Given the description of an element on the screen output the (x, y) to click on. 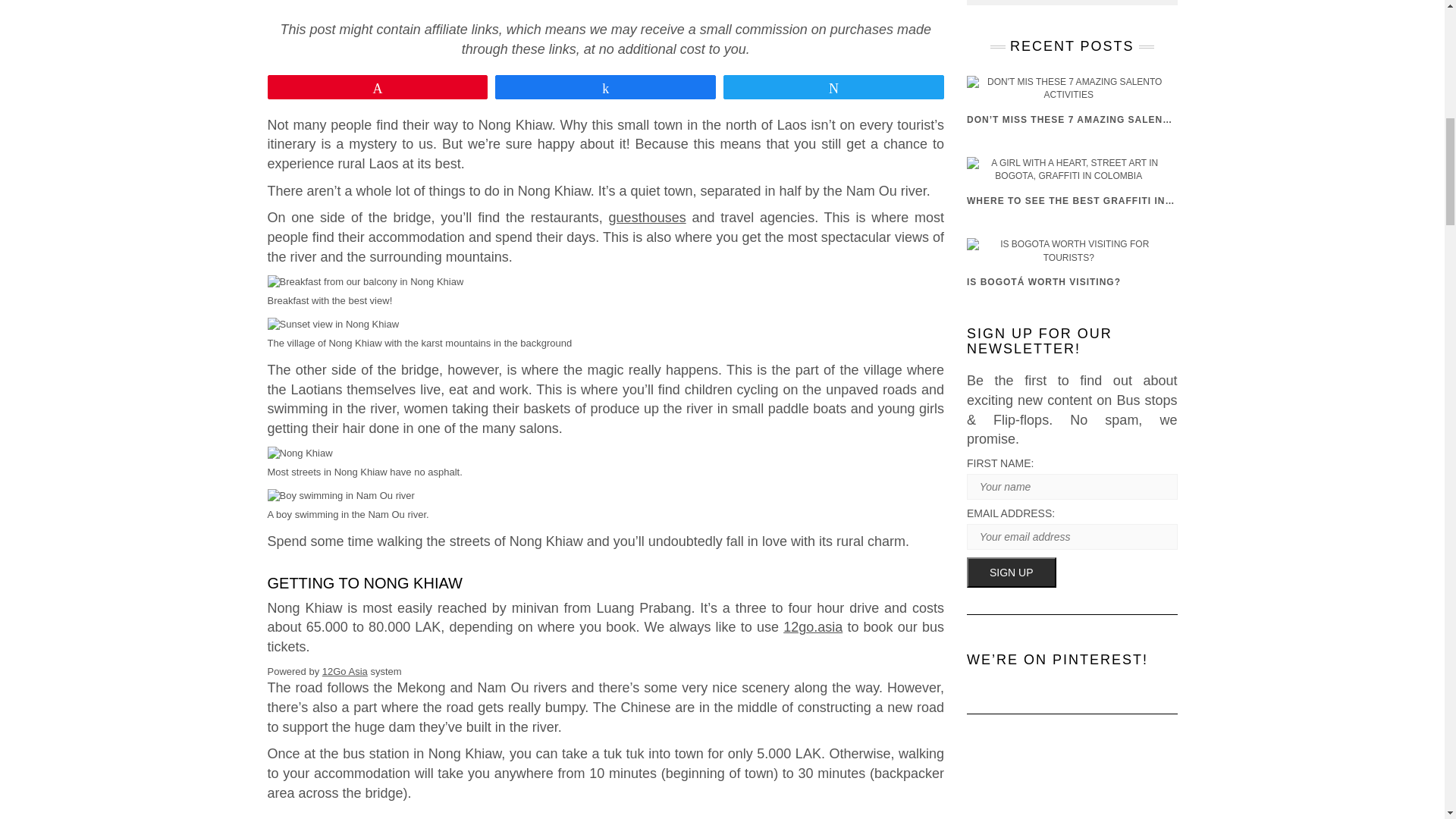
12go.asia (813, 626)
guesthouses (646, 217)
Sign up (1011, 572)
12Go Asia (344, 671)
